Given the description of an element on the screen output the (x, y) to click on. 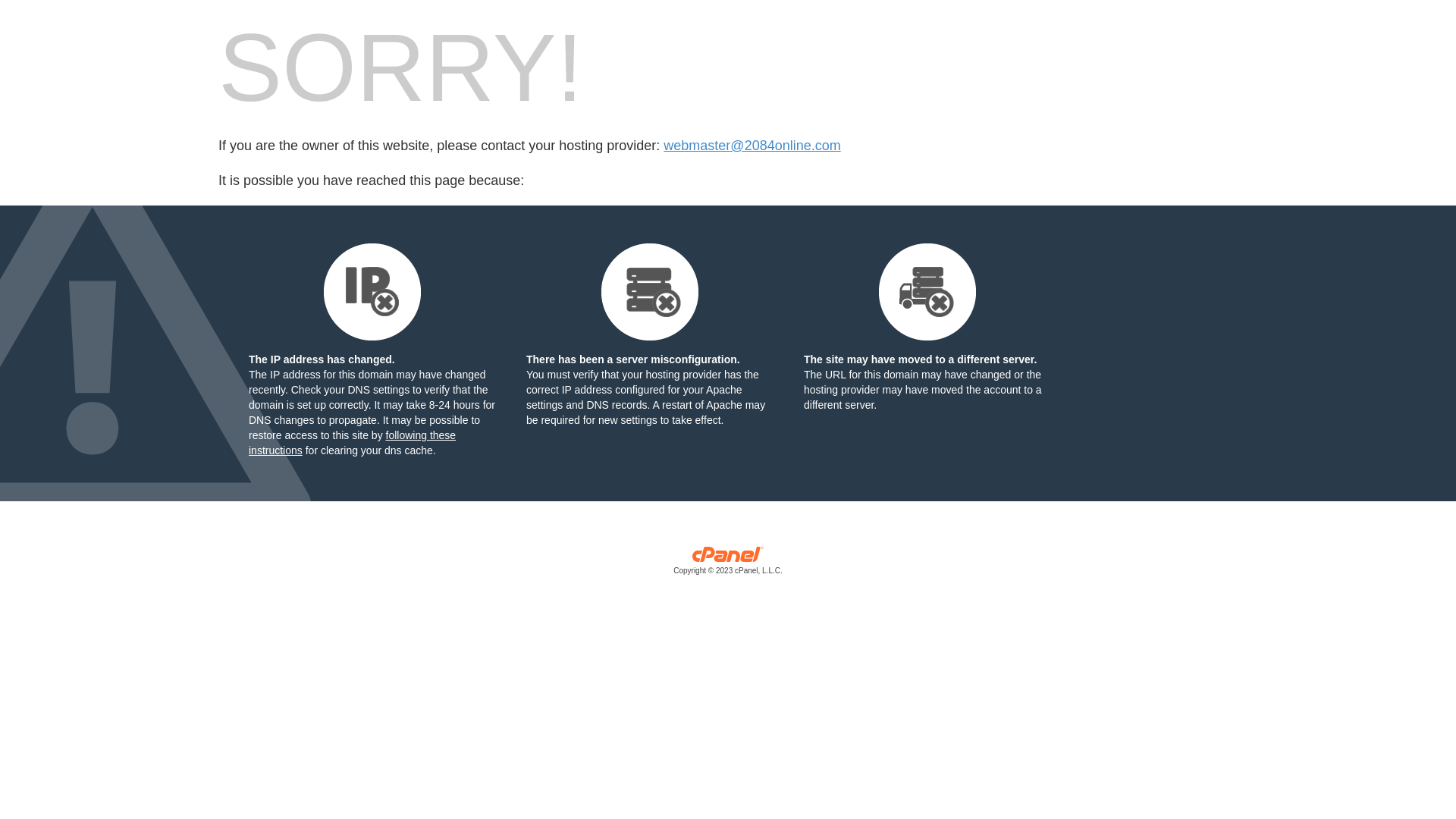
webmaster@2084online.com Element type: text (751, 145)
following these instructions Element type: text (351, 442)
